Given the description of an element on the screen output the (x, y) to click on. 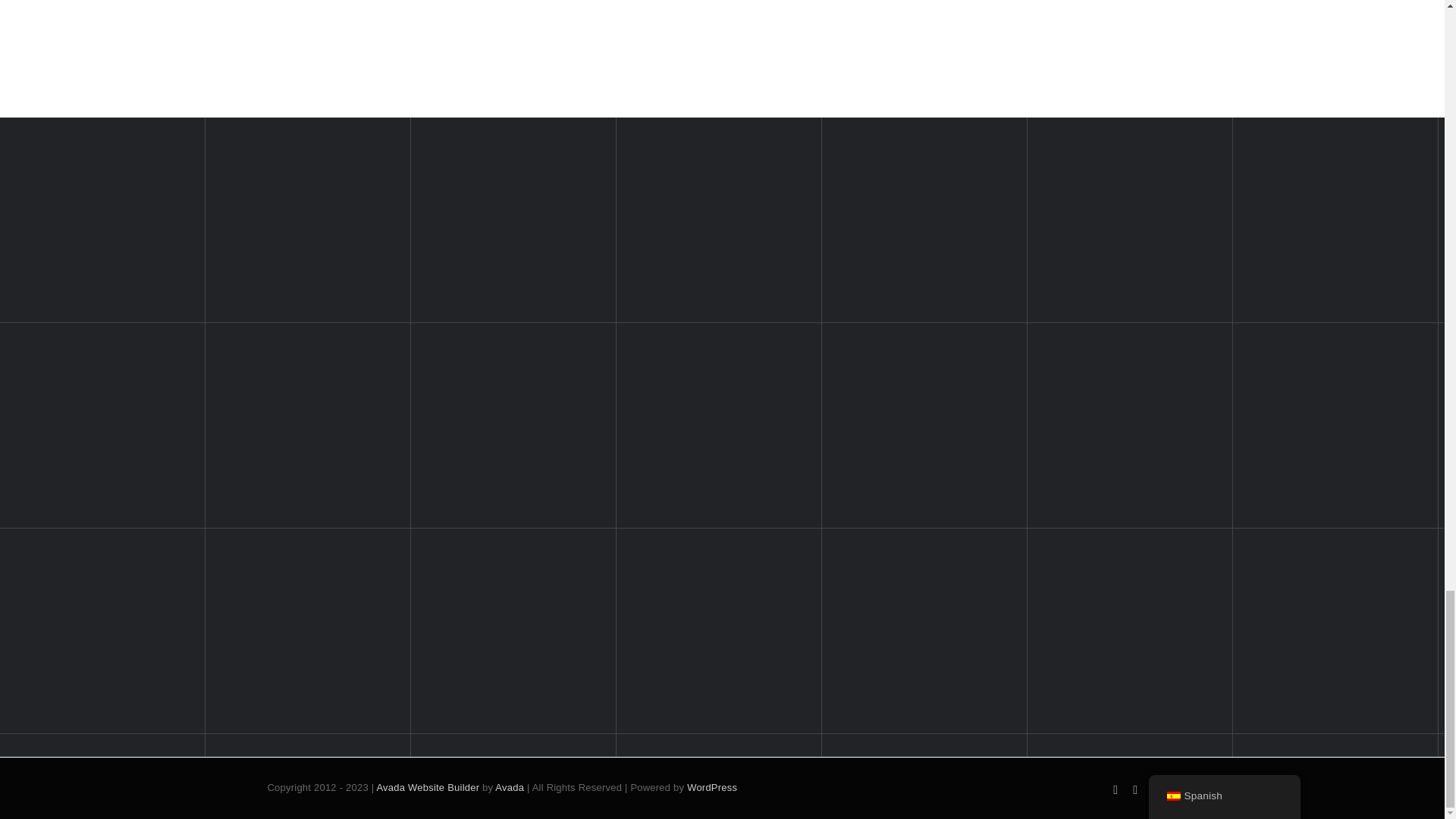
Avada (509, 787)
Avada Website Builder (427, 787)
WordPress (711, 787)
